Given the description of an element on the screen output the (x, y) to click on. 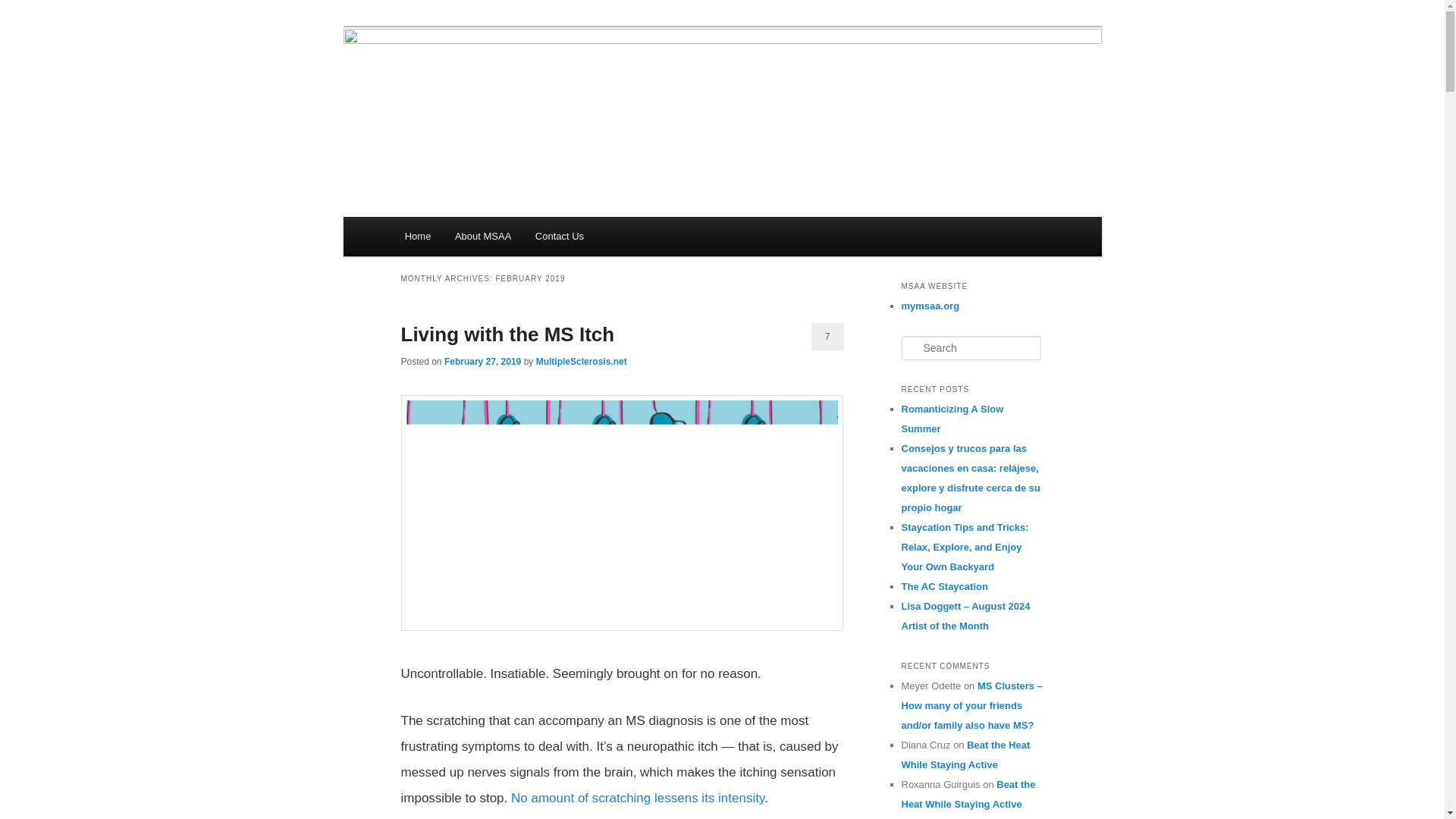
No amount of scratching lessens its intensity (637, 798)
View all posts by MultipleSclerosis.net (581, 361)
About MSAA (482, 236)
Contact Us (558, 236)
MultipleSclerosis.net (581, 361)
Living with the MS Itch (507, 333)
Skip to primary content (481, 242)
February 27, 2019 (482, 361)
Home (417, 236)
Skip to secondary content (489, 242)
